Given the description of an element on the screen output the (x, y) to click on. 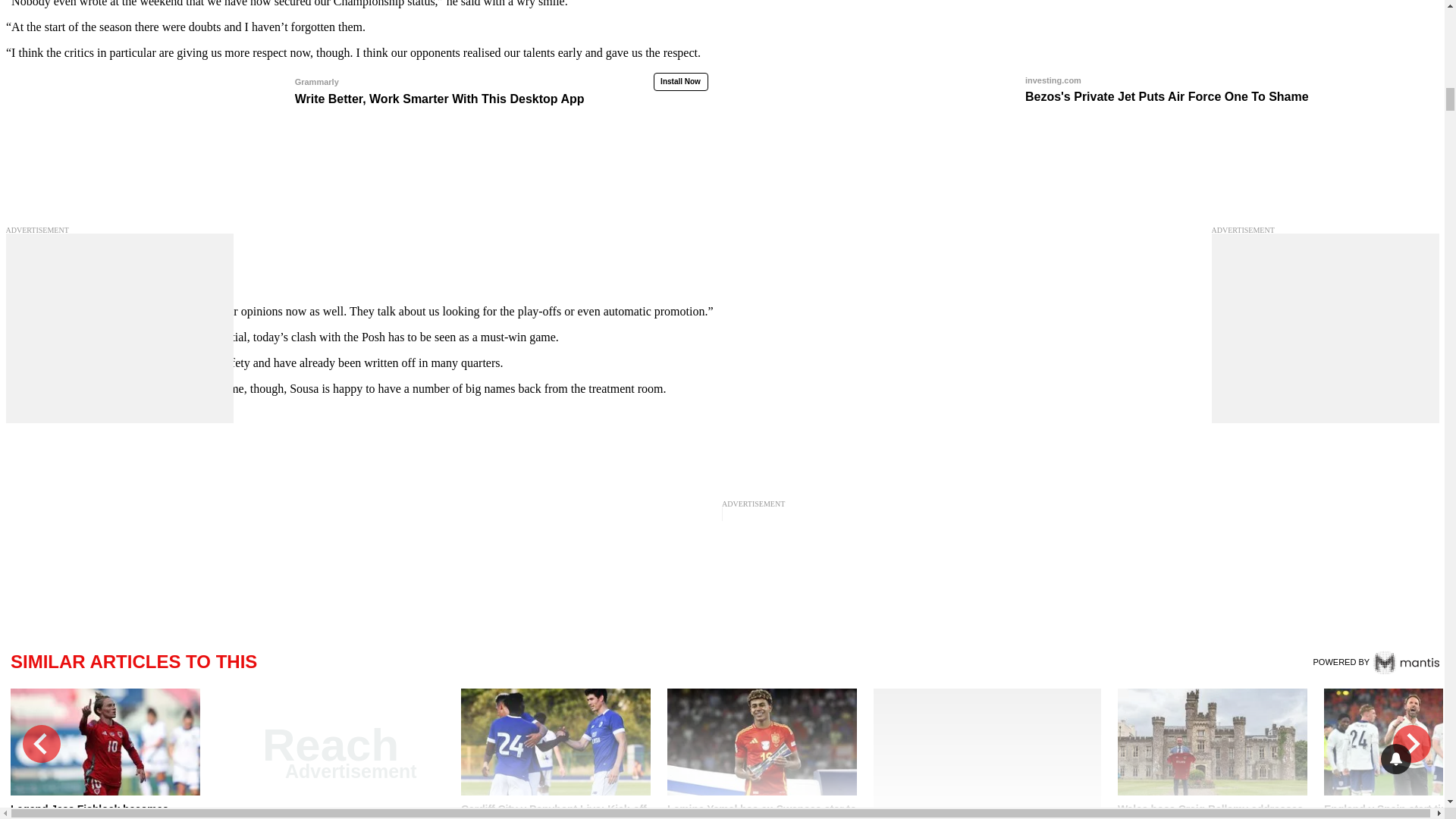
Write Better, Work Smarter With This Desktop App (357, 89)
